Given the description of an element on the screen output the (x, y) to click on. 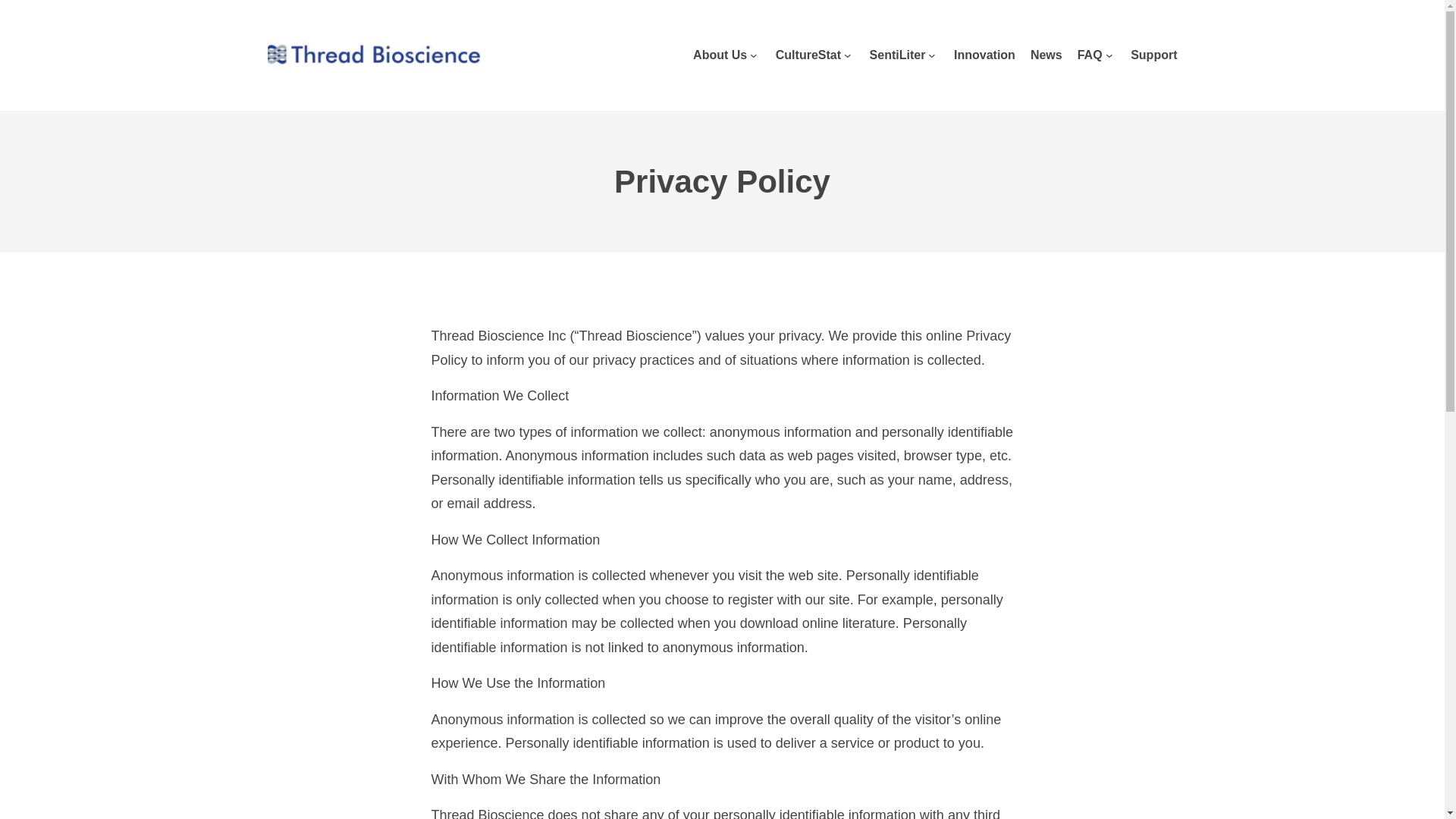
FAQ (1089, 55)
Innovation (983, 55)
CultureStat (808, 55)
Support (1153, 55)
About Us (719, 55)
News (1046, 55)
SentiLiter (897, 55)
